Given the description of an element on the screen output the (x, y) to click on. 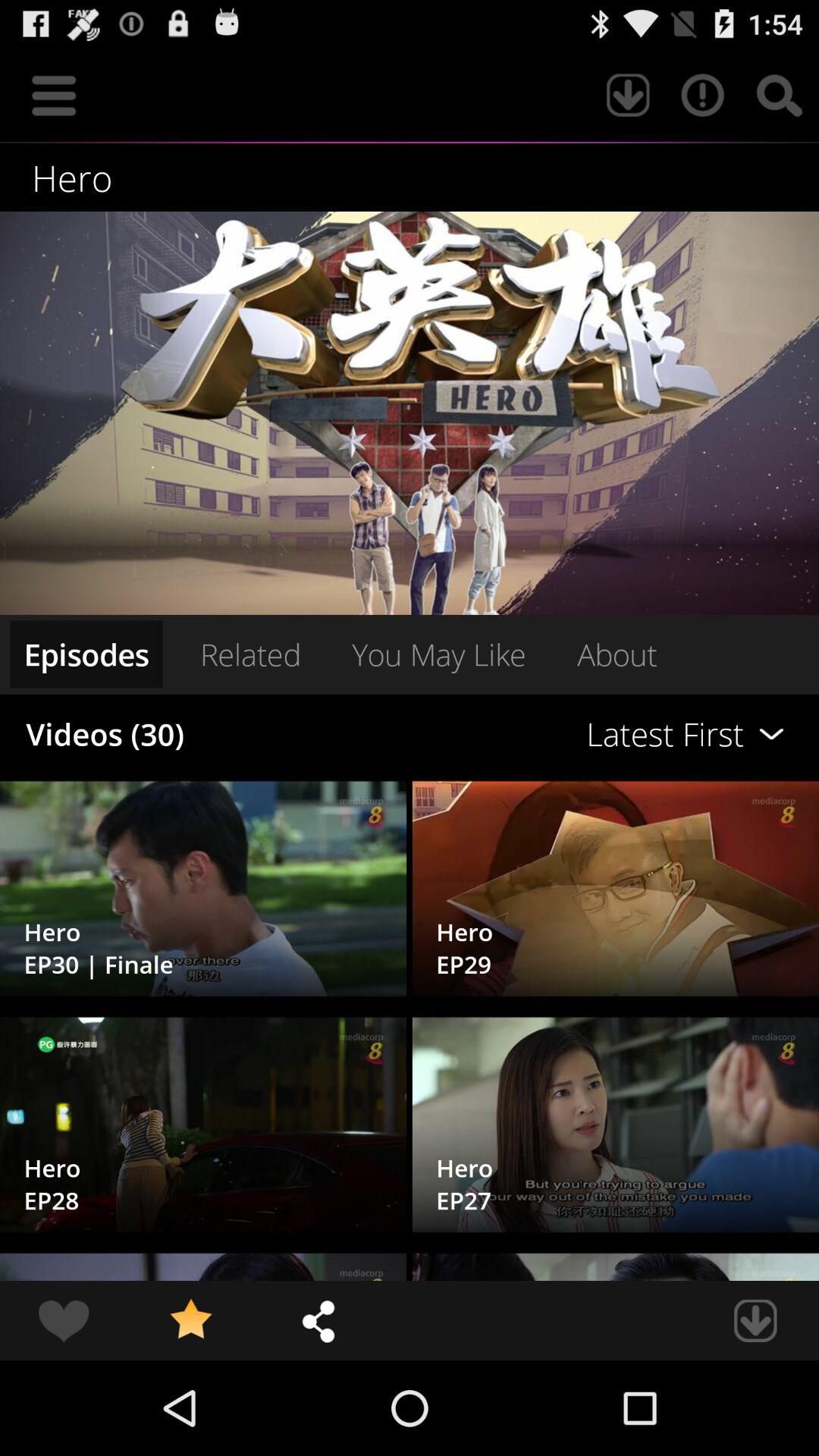
scroll to related (250, 654)
